Given the description of an element on the screen output the (x, y) to click on. 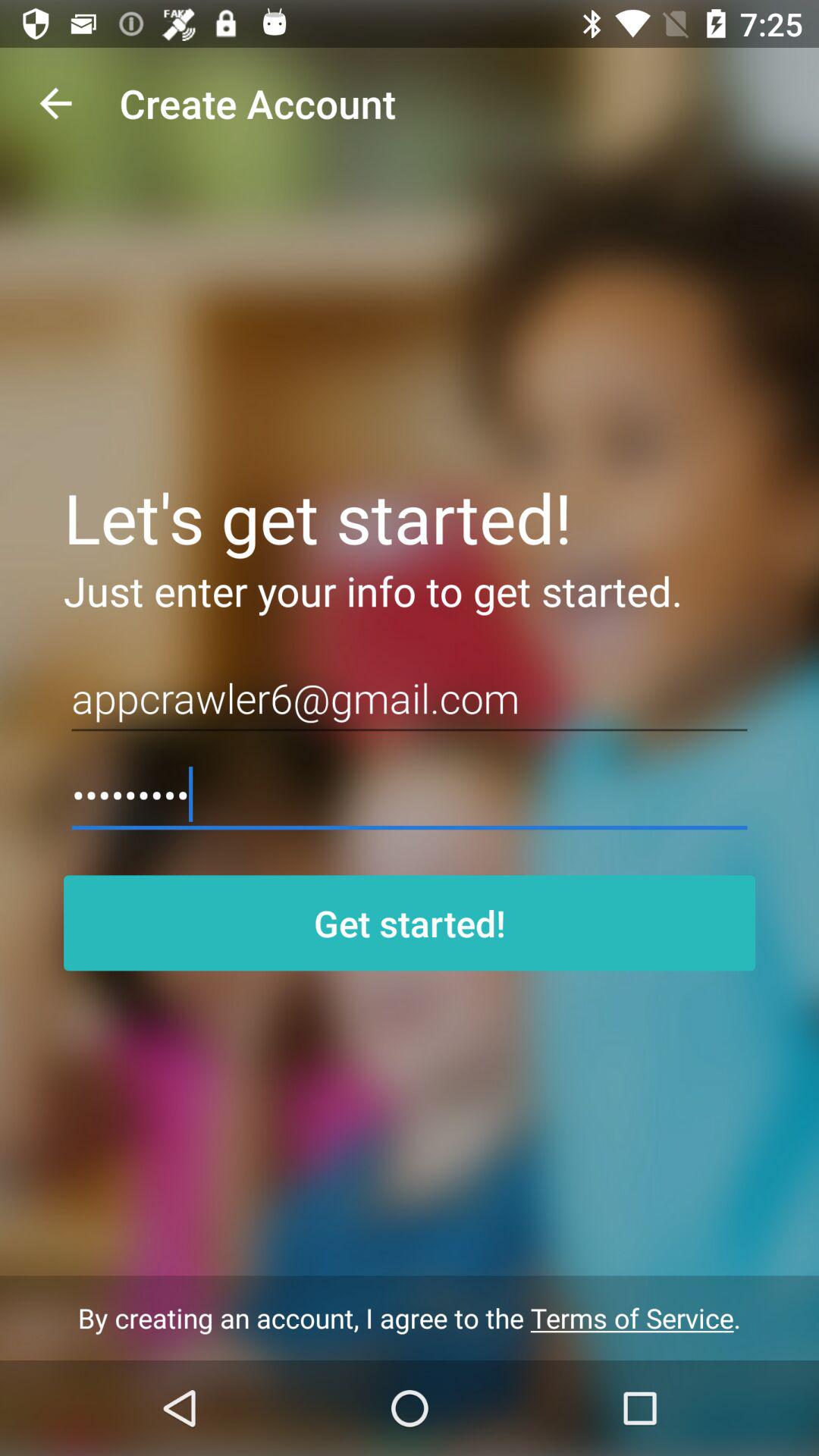
choose icon next to the create account icon (55, 103)
